Given the description of an element on the screen output the (x, y) to click on. 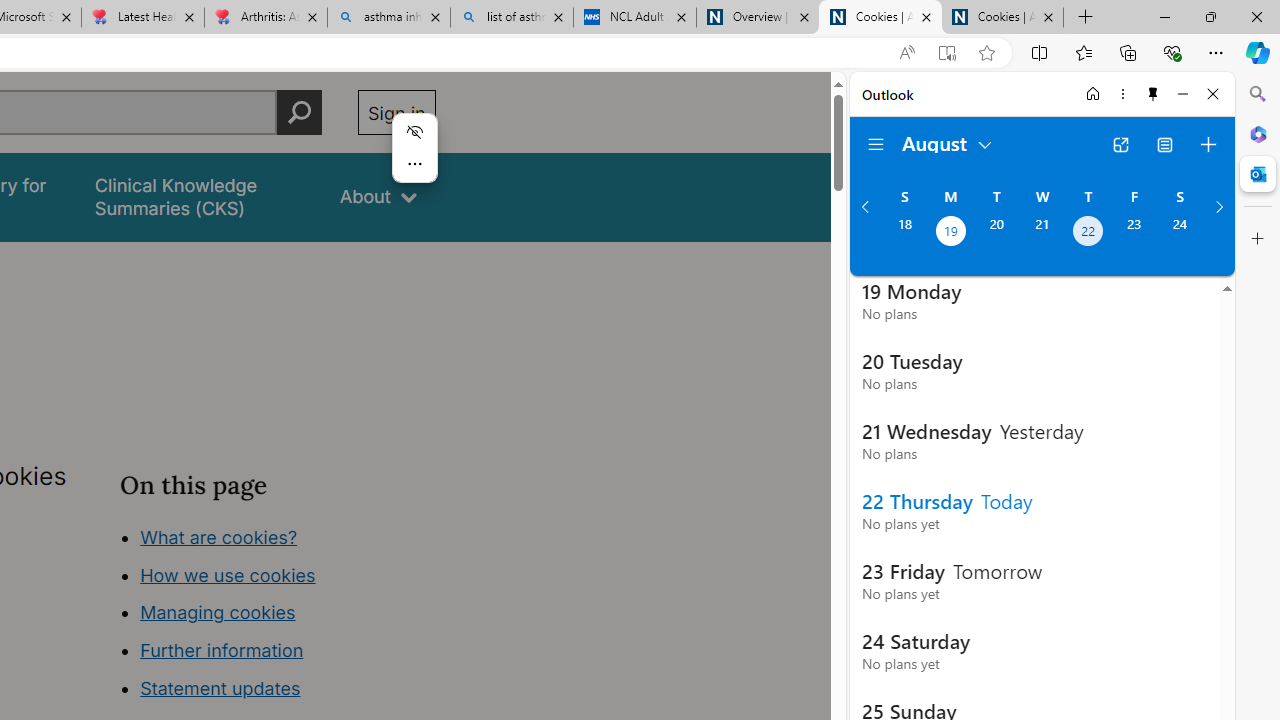
Saturday, August 24, 2024.  (1180, 233)
Tuesday, August 20, 2024.  (996, 233)
Managing cookies (217, 612)
Mini menu on text selection (414, 147)
Mini menu on text selection (414, 160)
View Switcher. Current view is Agenda view (1165, 144)
Open in new tab (1120, 144)
